Given the description of an element on the screen output the (x, y) to click on. 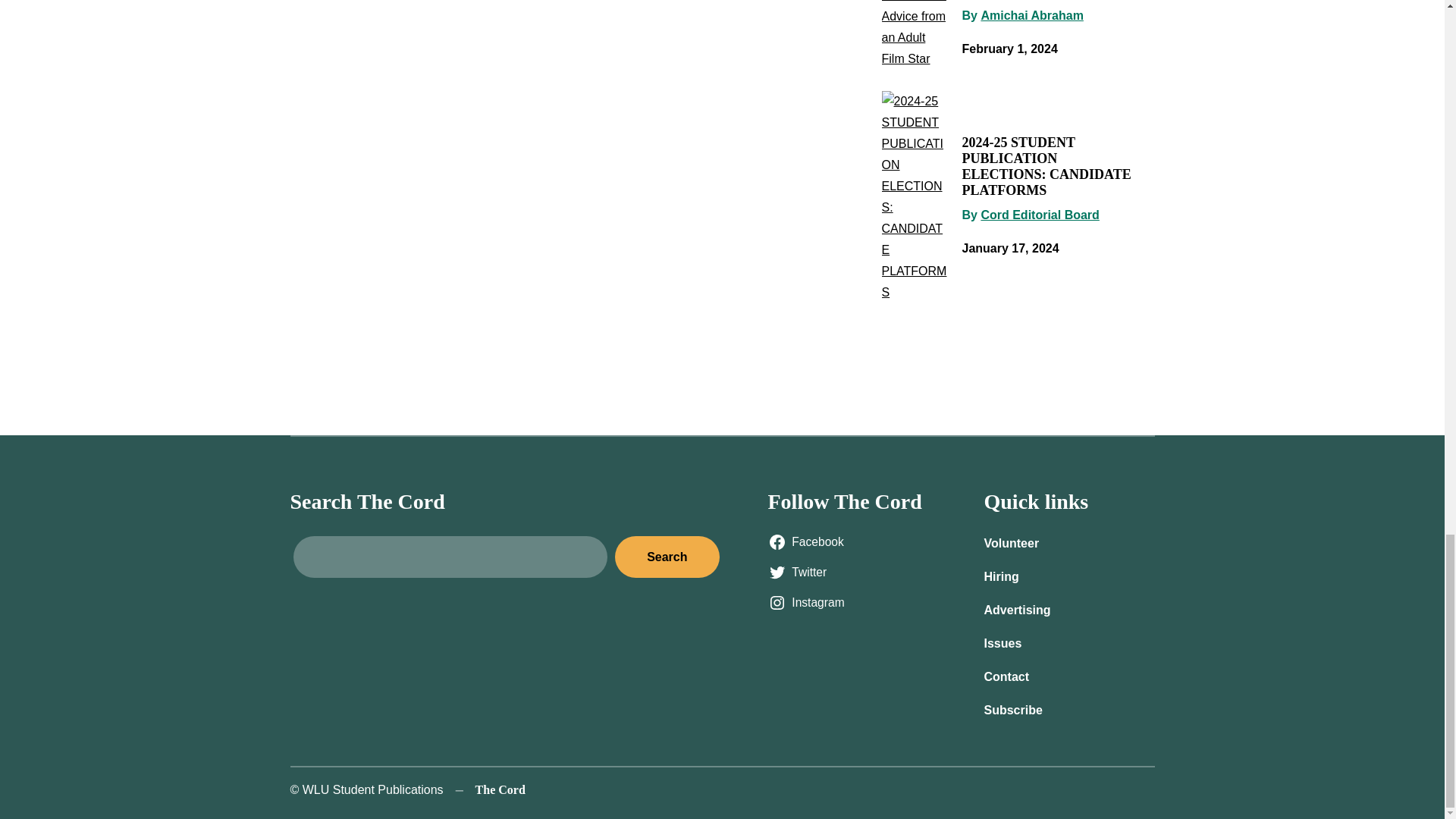
Posts by Cord Editorial Board (1039, 214)
Posts by Amichai Abraham (1031, 15)
